Given the description of an element on the screen output the (x, y) to click on. 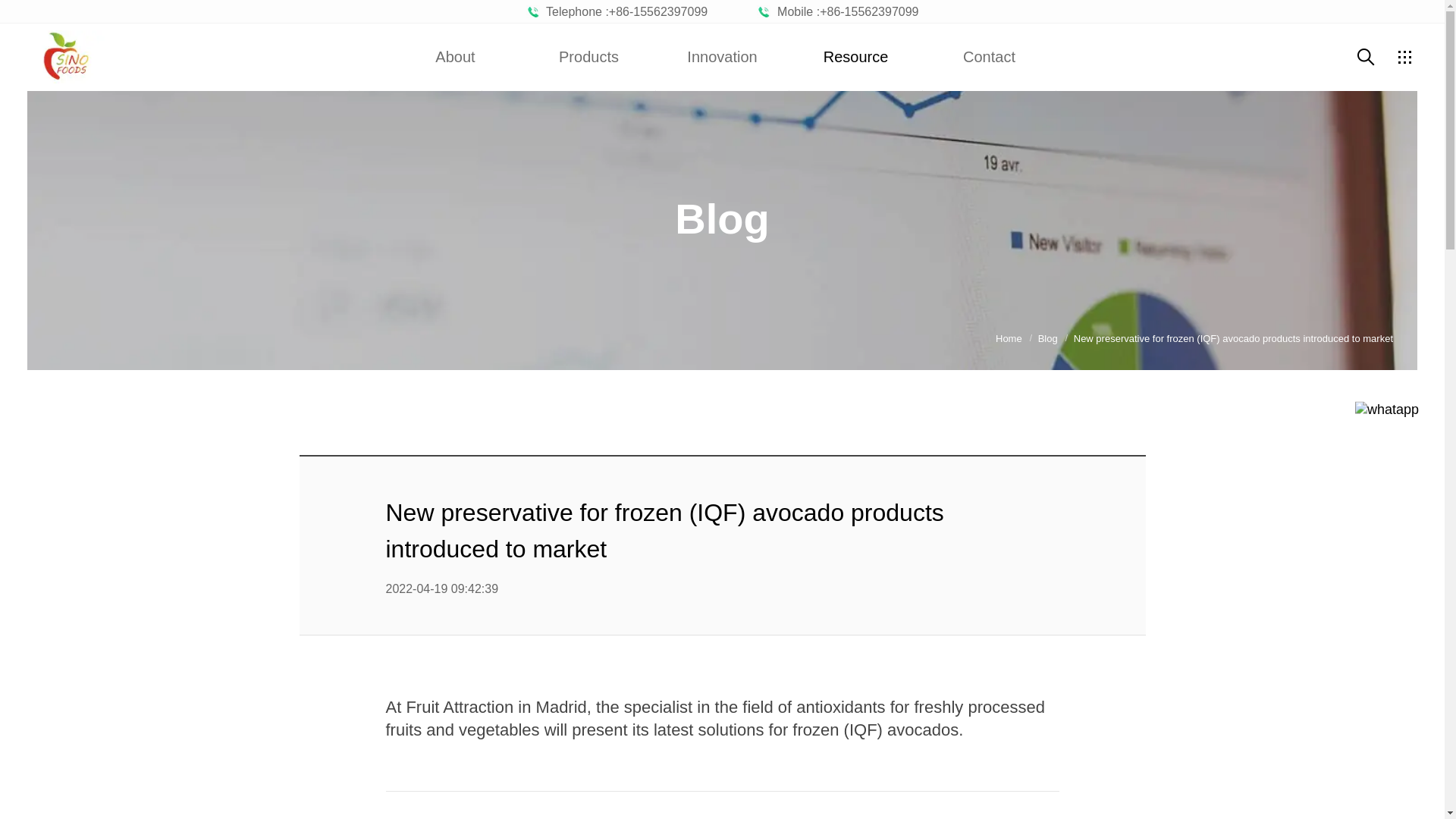
Resource (855, 56)
About (454, 56)
Products (588, 56)
Innovation (722, 56)
Other links (1403, 56)
Contact (988, 56)
